Given the description of an element on the screen output the (x, y) to click on. 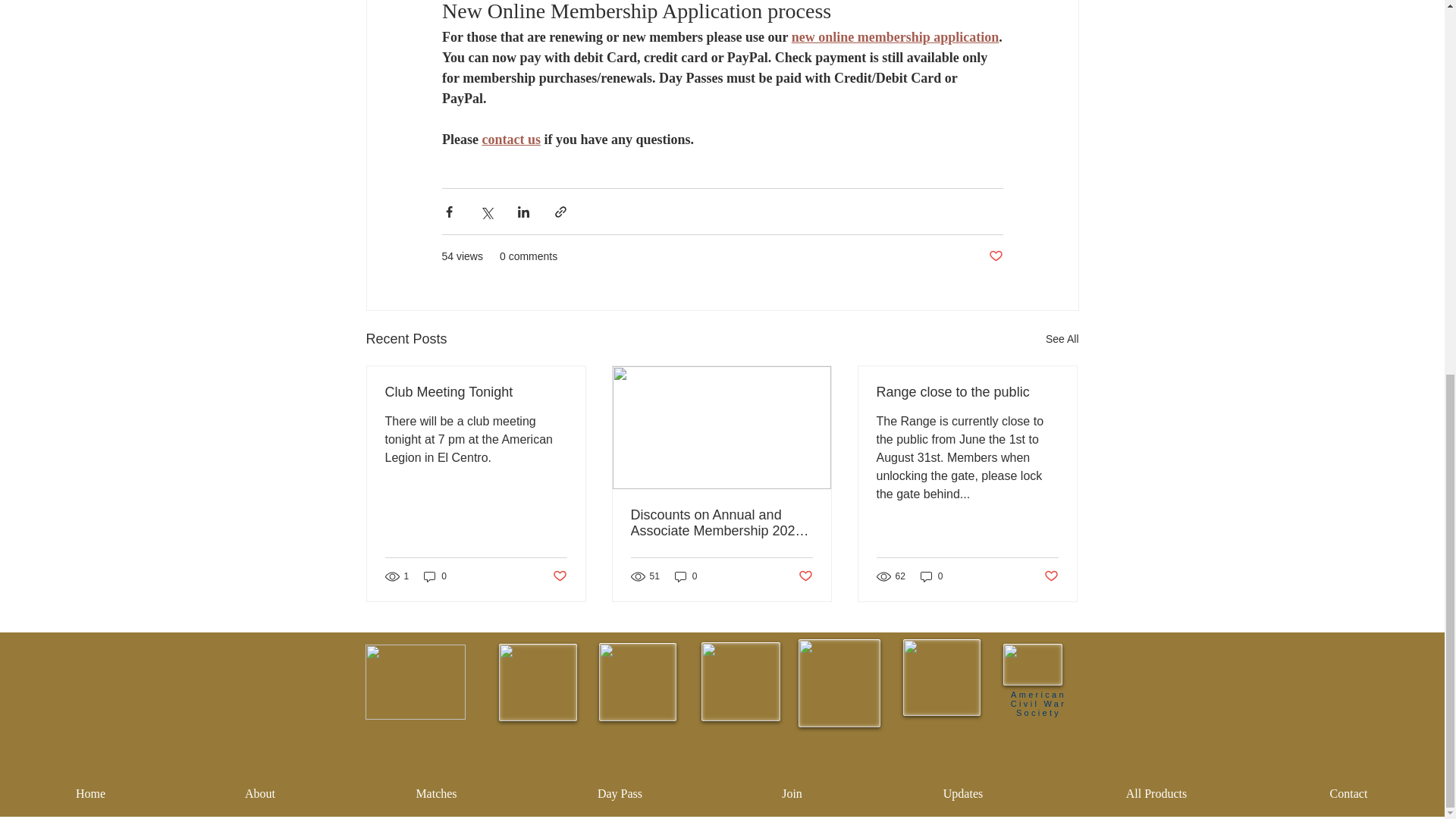
Post not marked as liked (558, 575)
new online membership application (894, 37)
contact us (510, 139)
Discounts on Annual and Associate Membership 2024-2025 (721, 522)
See All (1061, 339)
0 (931, 576)
0 (435, 576)
Post not marked as liked (804, 575)
Home (89, 786)
Post not marked as liked (1050, 575)
